Given the description of an element on the screen output the (x, y) to click on. 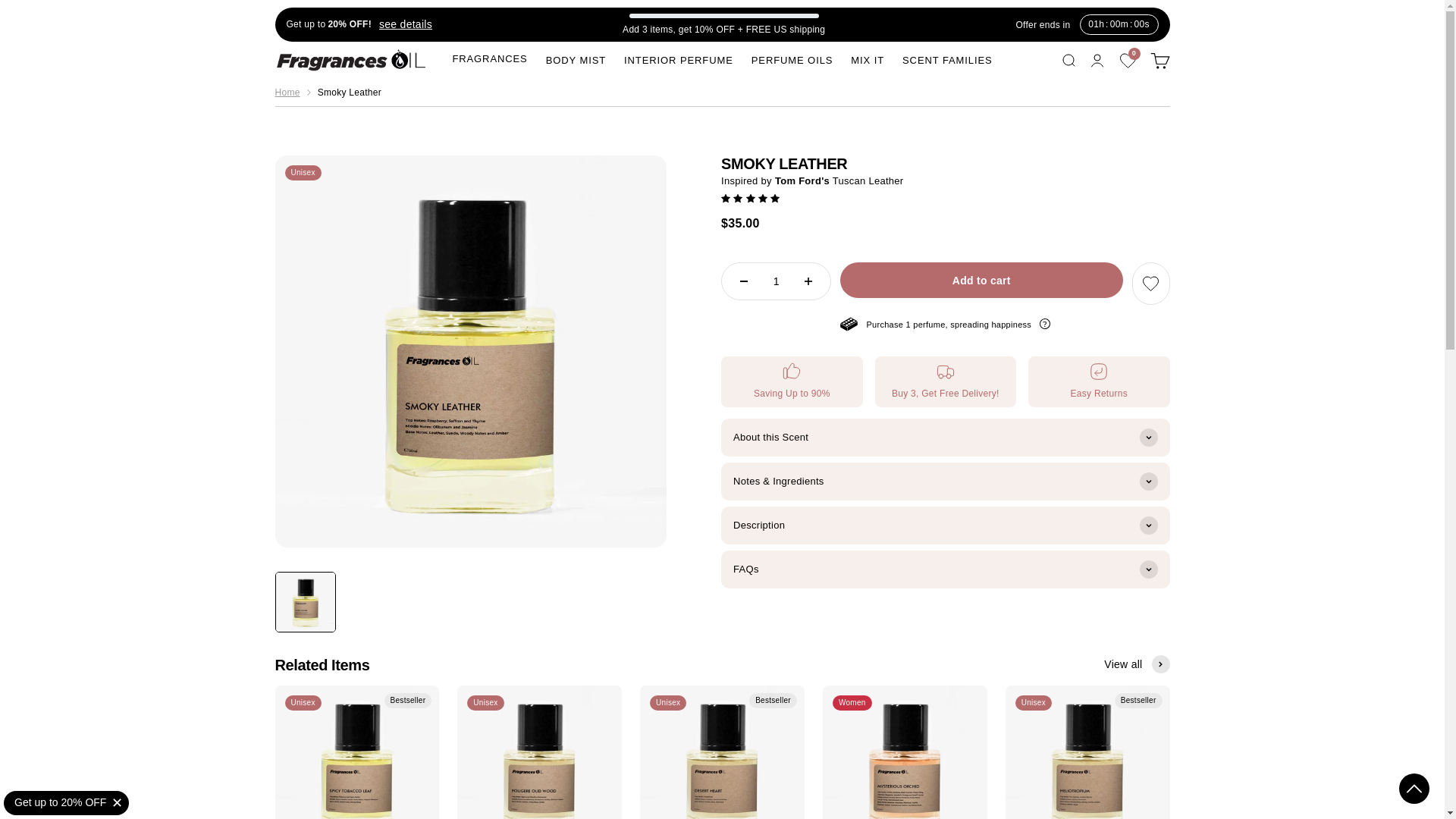
see details (1128, 60)
Open cart (401, 24)
MIX IT (1159, 59)
Home (866, 60)
PERFUME OILS (287, 92)
SCENT FAMILIES (791, 60)
Open search (947, 60)
BODY MIST (1068, 59)
Fragrances Oil (575, 60)
